Given the description of an element on the screen output the (x, y) to click on. 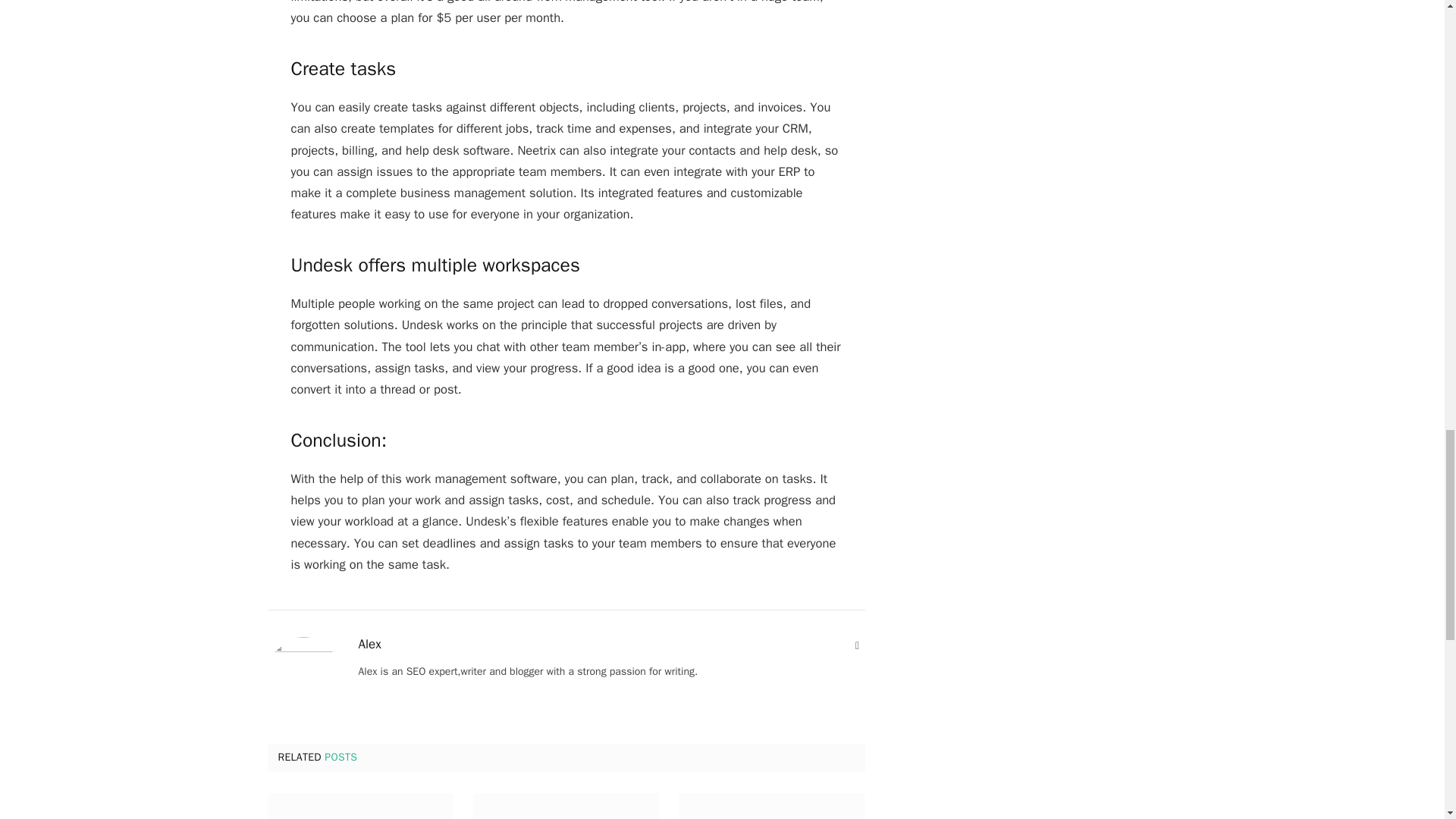
Website (856, 645)
Alex (369, 644)
Posts by Alex (369, 644)
Website (856, 645)
